Given the description of an element on the screen output the (x, y) to click on. 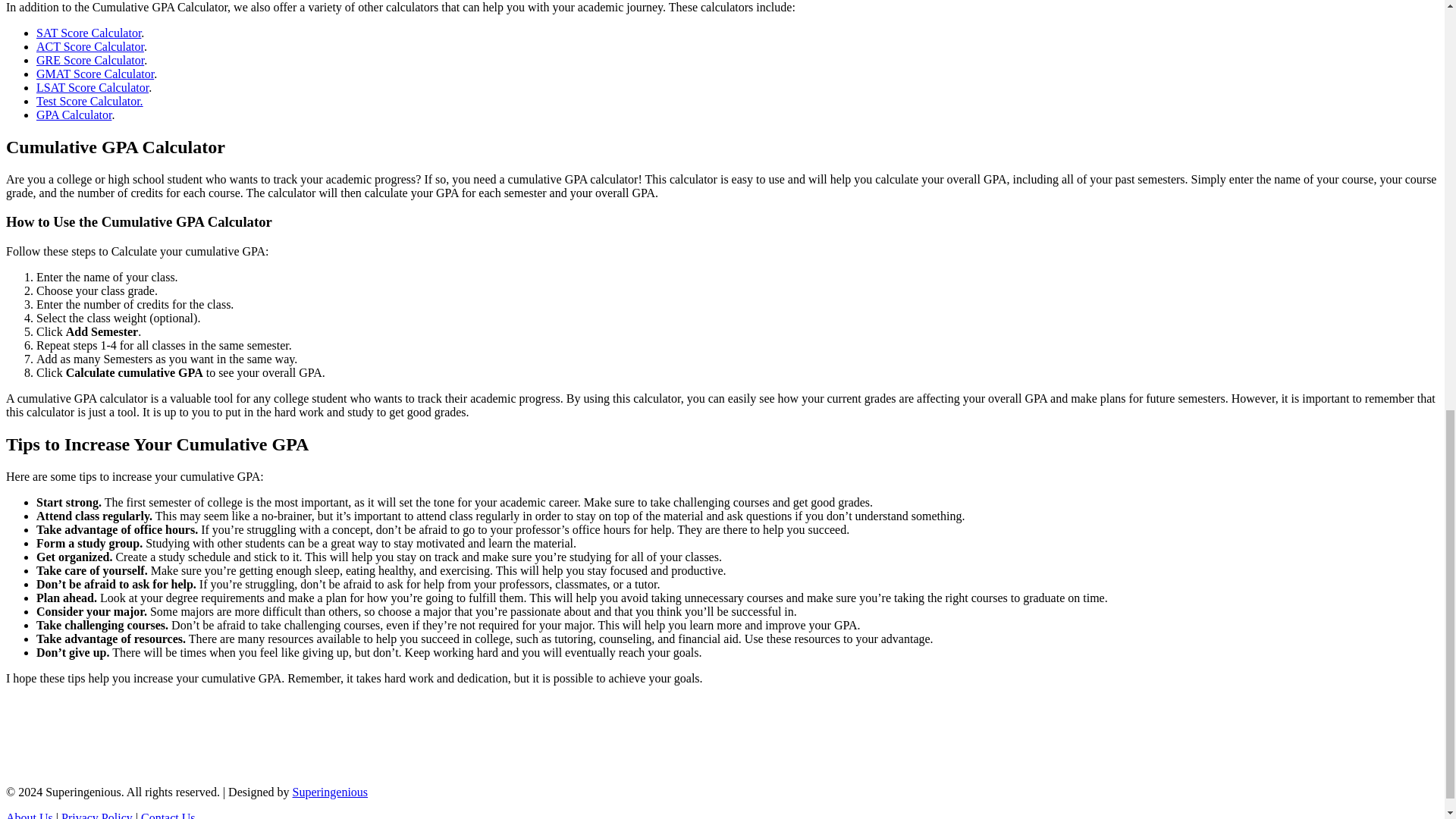
Superingenious (330, 791)
SAT Score Calculator (88, 32)
ACT Score Calculator (90, 46)
GPA Calculator (74, 114)
LSAT Score Calculator (92, 87)
Test Score Calculator. (89, 101)
GMAT Score Calculator (95, 73)
GRE Score Calculator (90, 60)
